Given the description of an element on the screen output the (x, y) to click on. 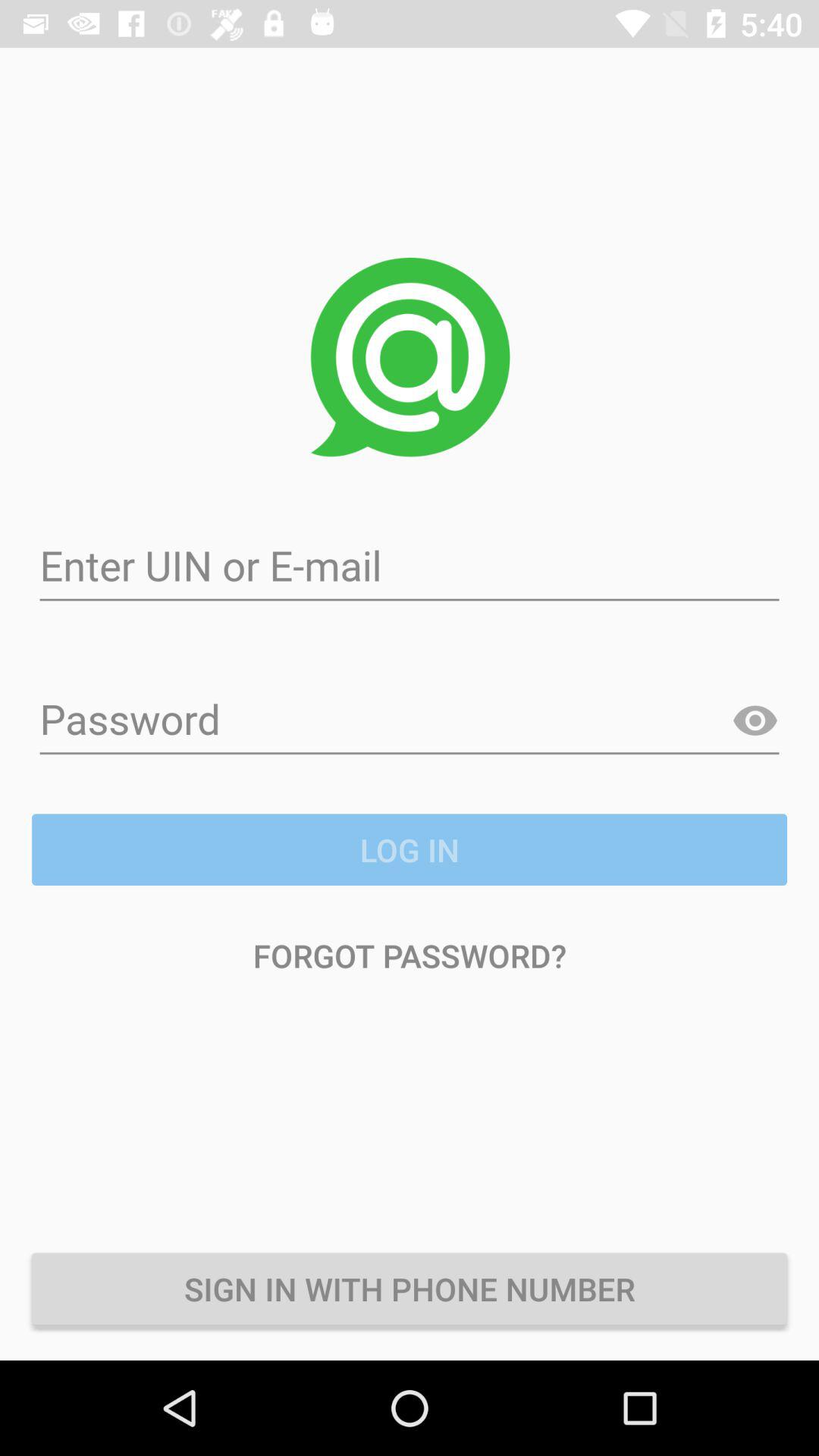
swipe until forgot password? item (409, 955)
